Given the description of an element on the screen output the (x, y) to click on. 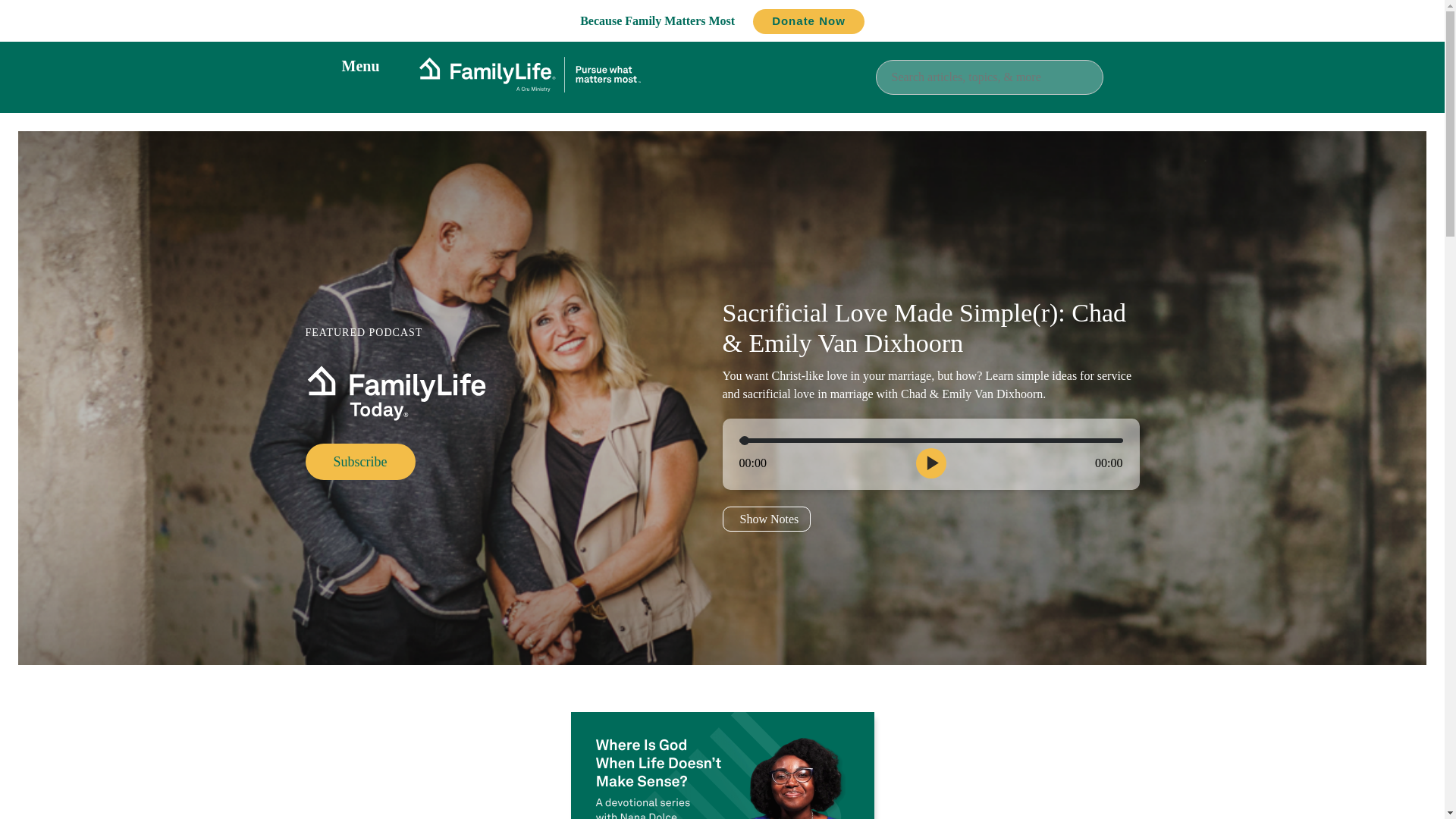
Because Family Matters Most Donate Now (721, 20)
Search for: (988, 76)
0 (930, 440)
Show Notes (766, 518)
Subscribe (359, 461)
Donate Now (808, 21)
